Given the description of an element on the screen output the (x, y) to click on. 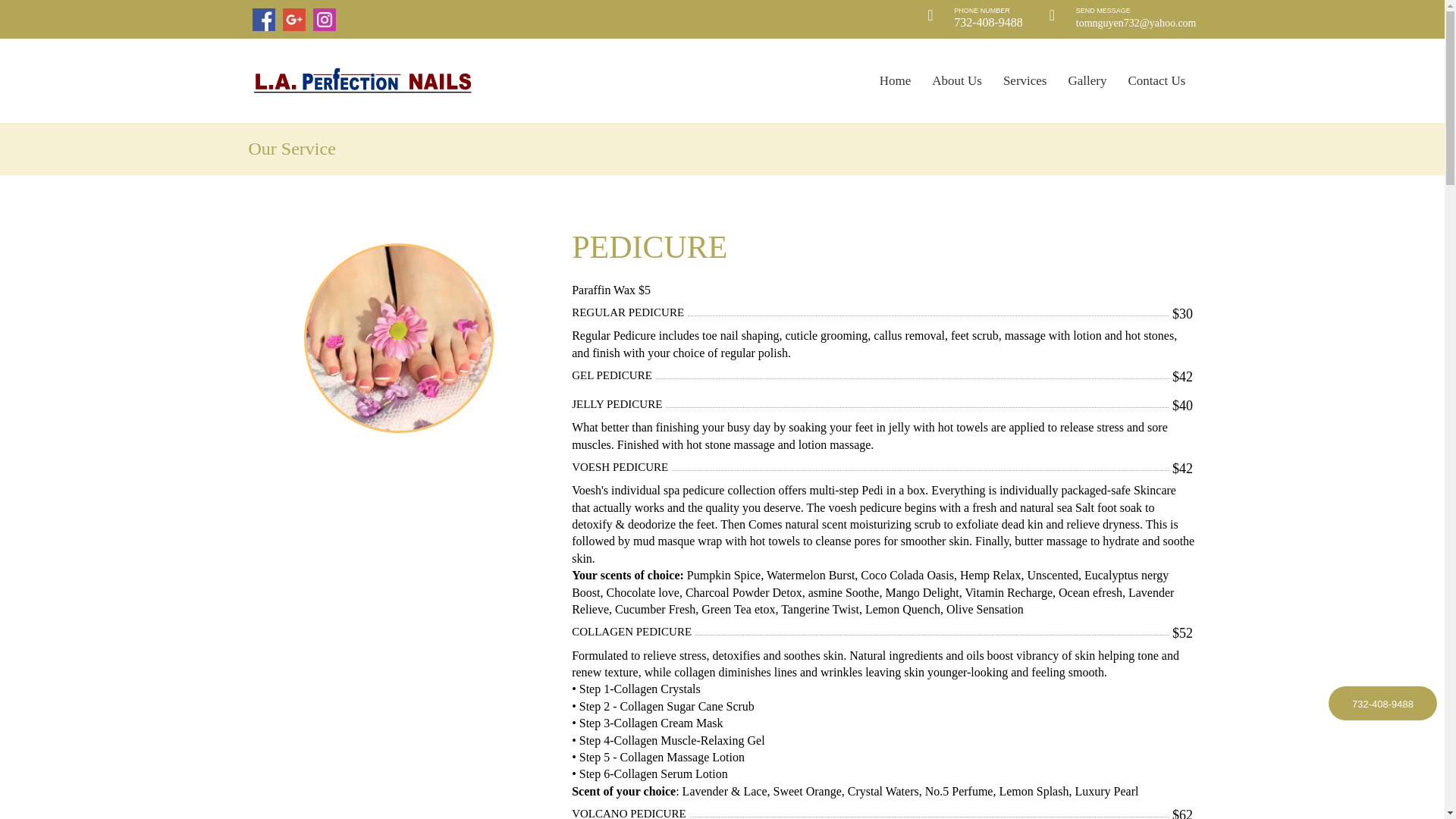
Contact Us (1155, 81)
Gallery (1086, 81)
About Us (956, 81)
Contact Us (1155, 81)
732-408-9488 (1382, 703)
Home (895, 81)
Home (895, 81)
Home (362, 80)
Google plus (293, 17)
Facebook (263, 17)
Instagram (323, 17)
Gallery (1086, 81)
Services (1024, 81)
Services (1024, 81)
About Us (956, 81)
